Given the description of an element on the screen output the (x, y) to click on. 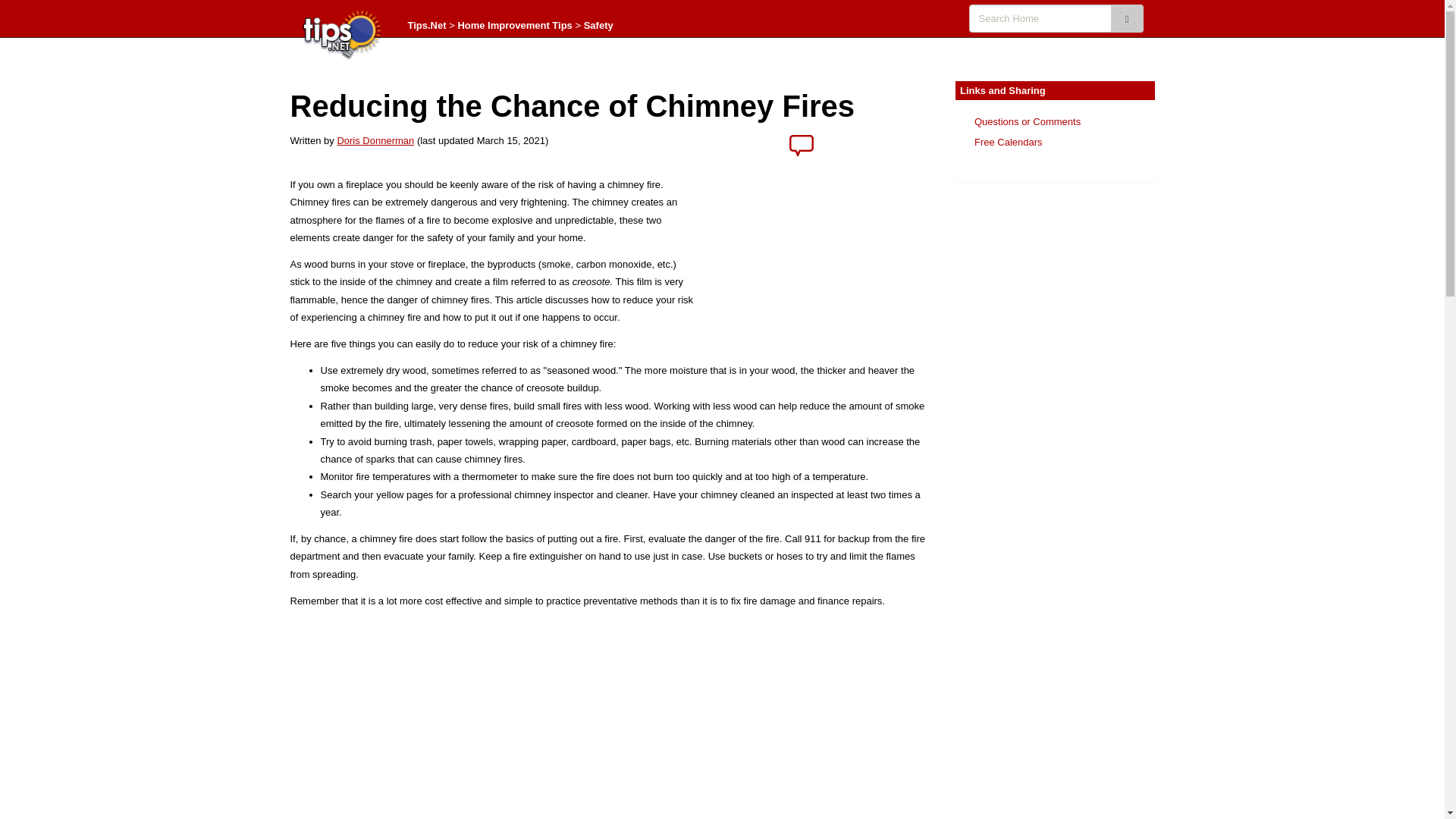
Doris Donnerman (374, 140)
Free Calendars (1008, 142)
Tips.Net (426, 25)
Questions or Comments (1027, 120)
Home Improvement Tips (514, 25)
Safety (597, 25)
